Given the description of an element on the screen output the (x, y) to click on. 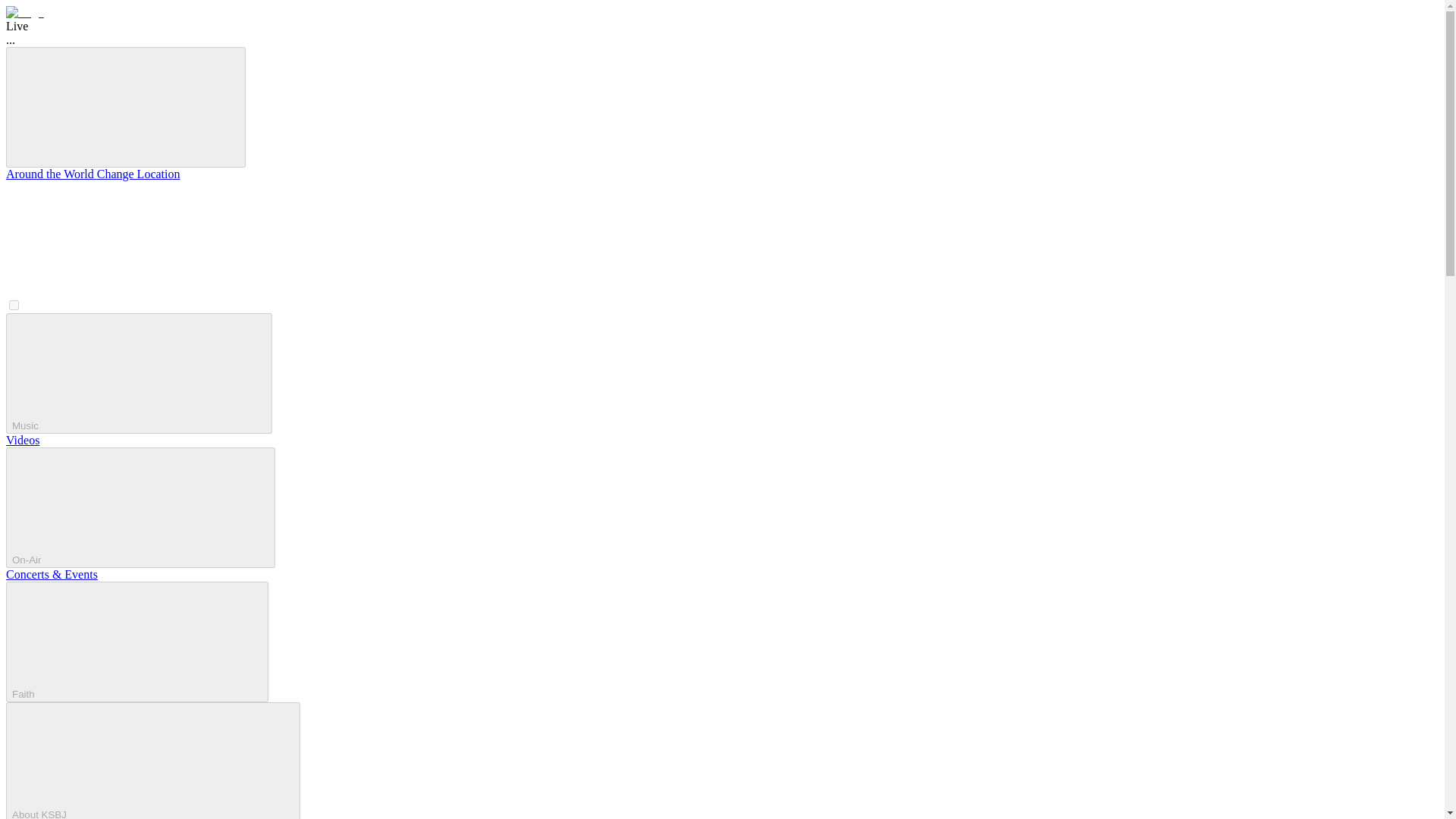
Around the World Change Location (92, 173)
Music (138, 373)
About KSBJ (152, 760)
Videos (22, 440)
Faith (136, 641)
On-Air (140, 507)
on (13, 305)
